Given the description of an element on the screen output the (x, y) to click on. 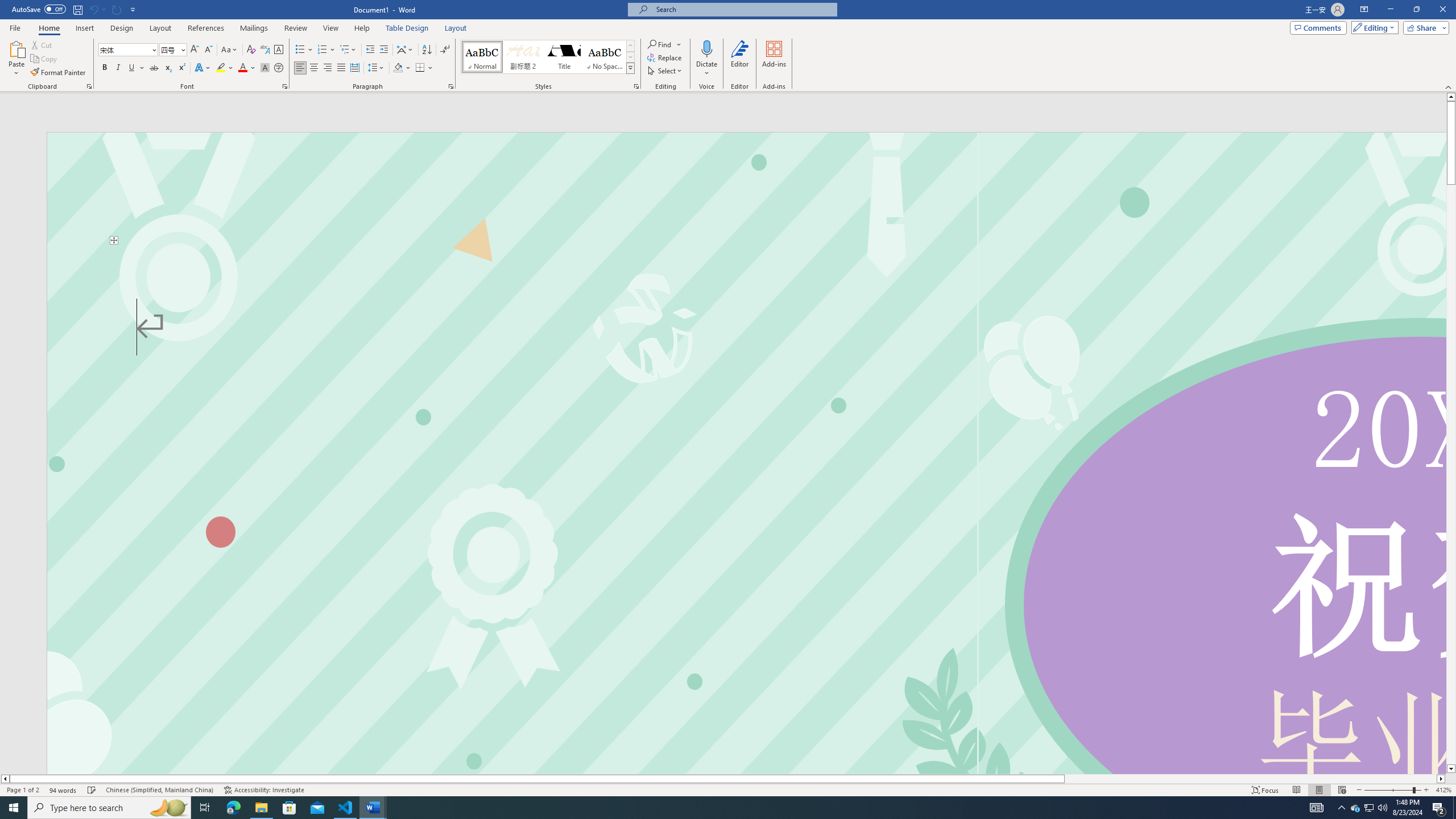
Line up (1450, 96)
